Given the description of an element on the screen output the (x, y) to click on. 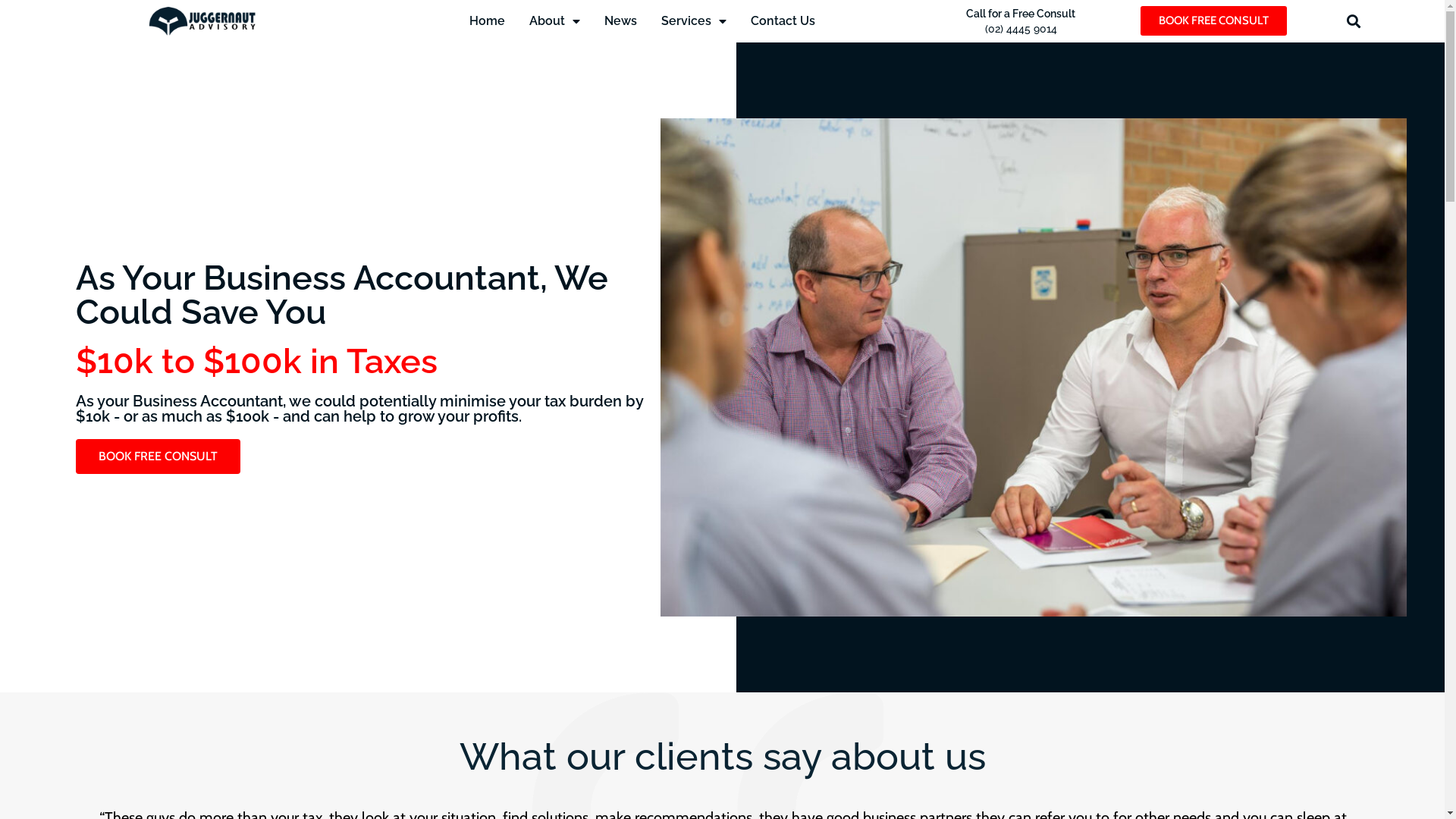
News Element type: text (620, 20)
Home Element type: text (487, 20)
Contact Us Element type: text (782, 20)
Services Element type: text (693, 20)
BOOK FREE CONSULT Element type: text (157, 456)
(02) 4445 9014 Element type: text (1021, 28)
BOOK FREE CONSULT Element type: text (1213, 20)
About Element type: text (554, 20)
